Given the description of an element on the screen output the (x, y) to click on. 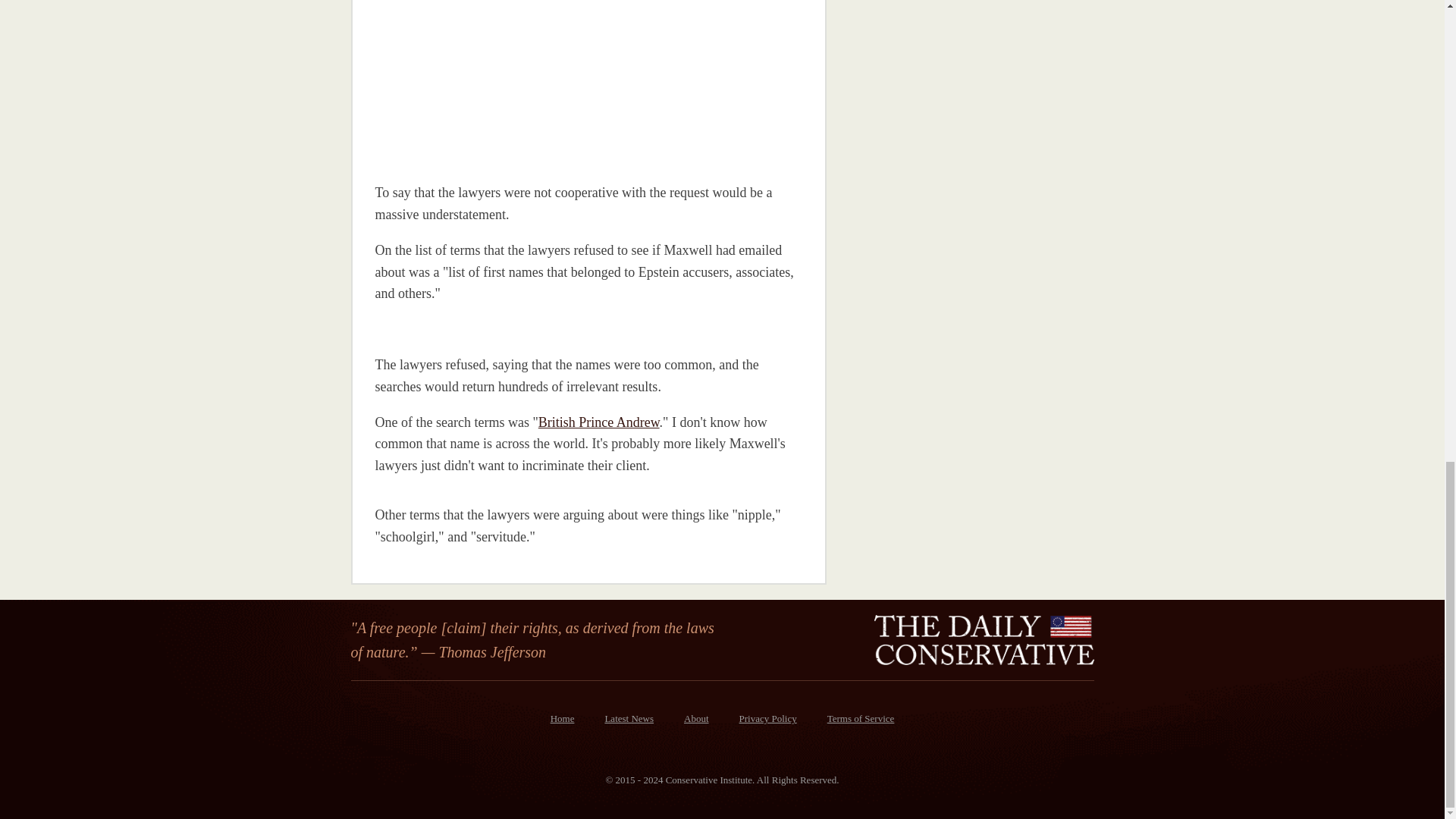
Advertisement (954, 67)
Advertisement (480, 80)
About (695, 719)
Latest News (628, 719)
Terms of Service (861, 719)
Privacy Policy (767, 719)
Home (562, 719)
British Prince Andrew (598, 421)
